Given the description of an element on the screen output the (x, y) to click on. 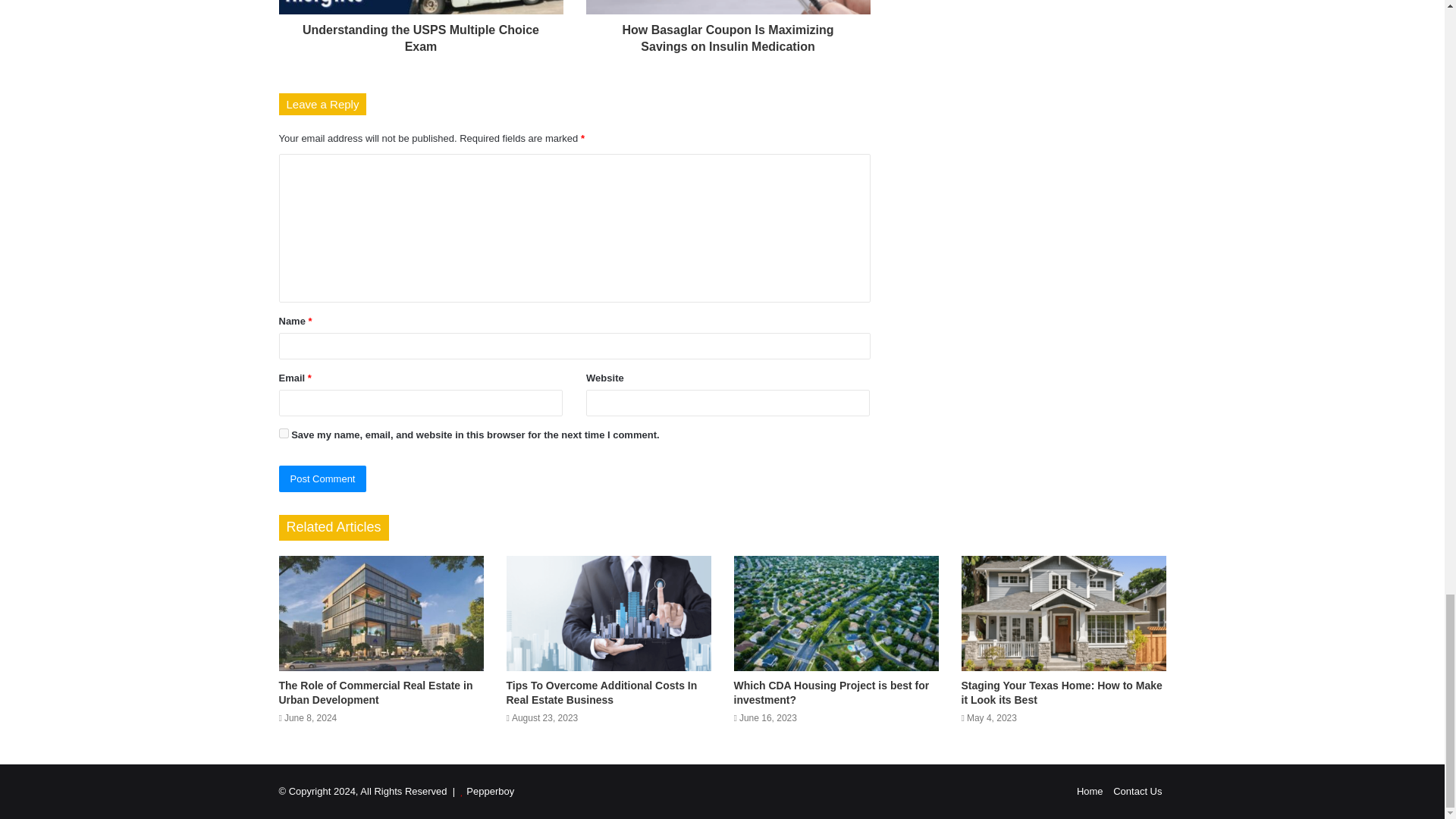
yes (283, 433)
Post Comment (322, 479)
